Given the description of an element on the screen output the (x, y) to click on. 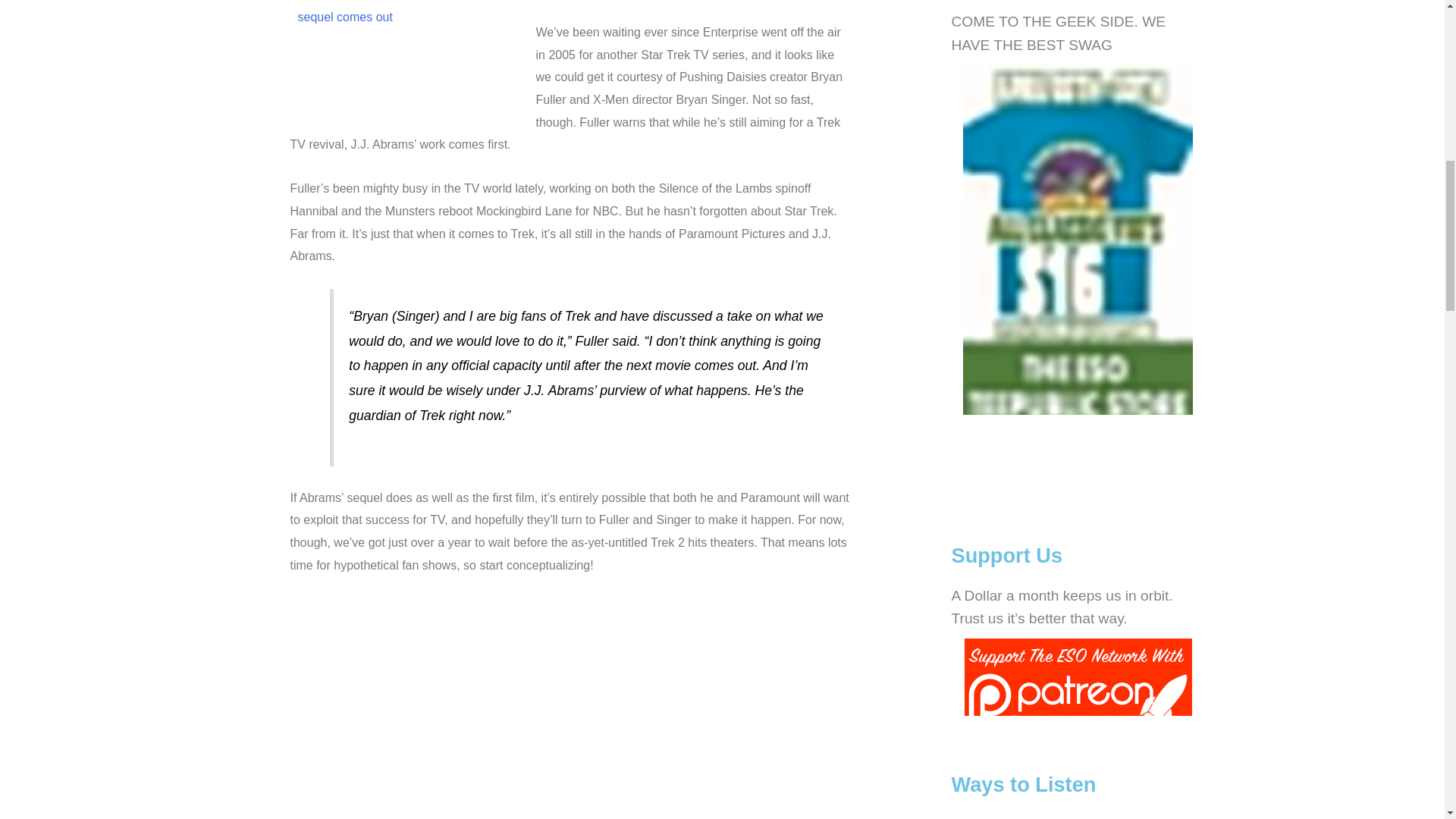
2startrek460 (402, 59)
